Given the description of an element on the screen output the (x, y) to click on. 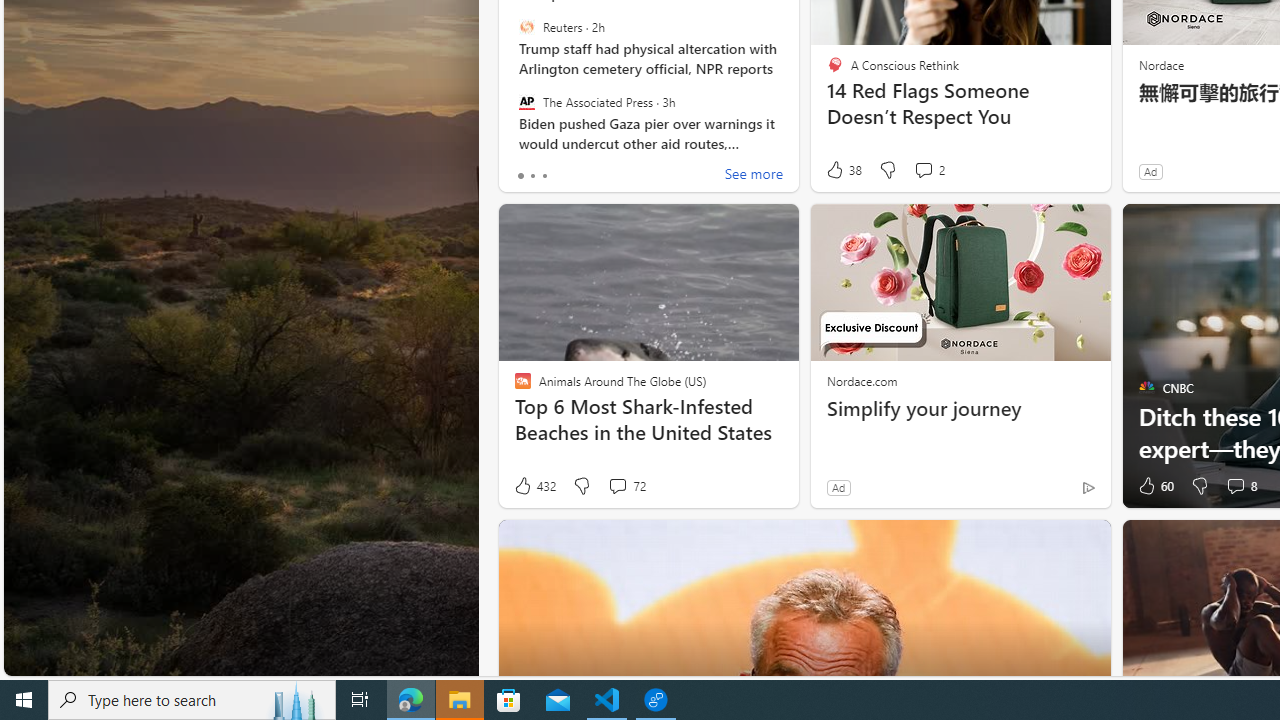
View comments 8 Comment (1240, 485)
Dislike (1199, 485)
tab-1 (532, 175)
View comments 72 Comment (626, 485)
The Associated Press (526, 101)
432 Like (534, 485)
Simplify your journey (959, 408)
tab-0 (520, 175)
View comments 72 Comment (617, 485)
Reuters (526, 27)
View comments 8 Comment (1234, 485)
